Given the description of an element on the screen output the (x, y) to click on. 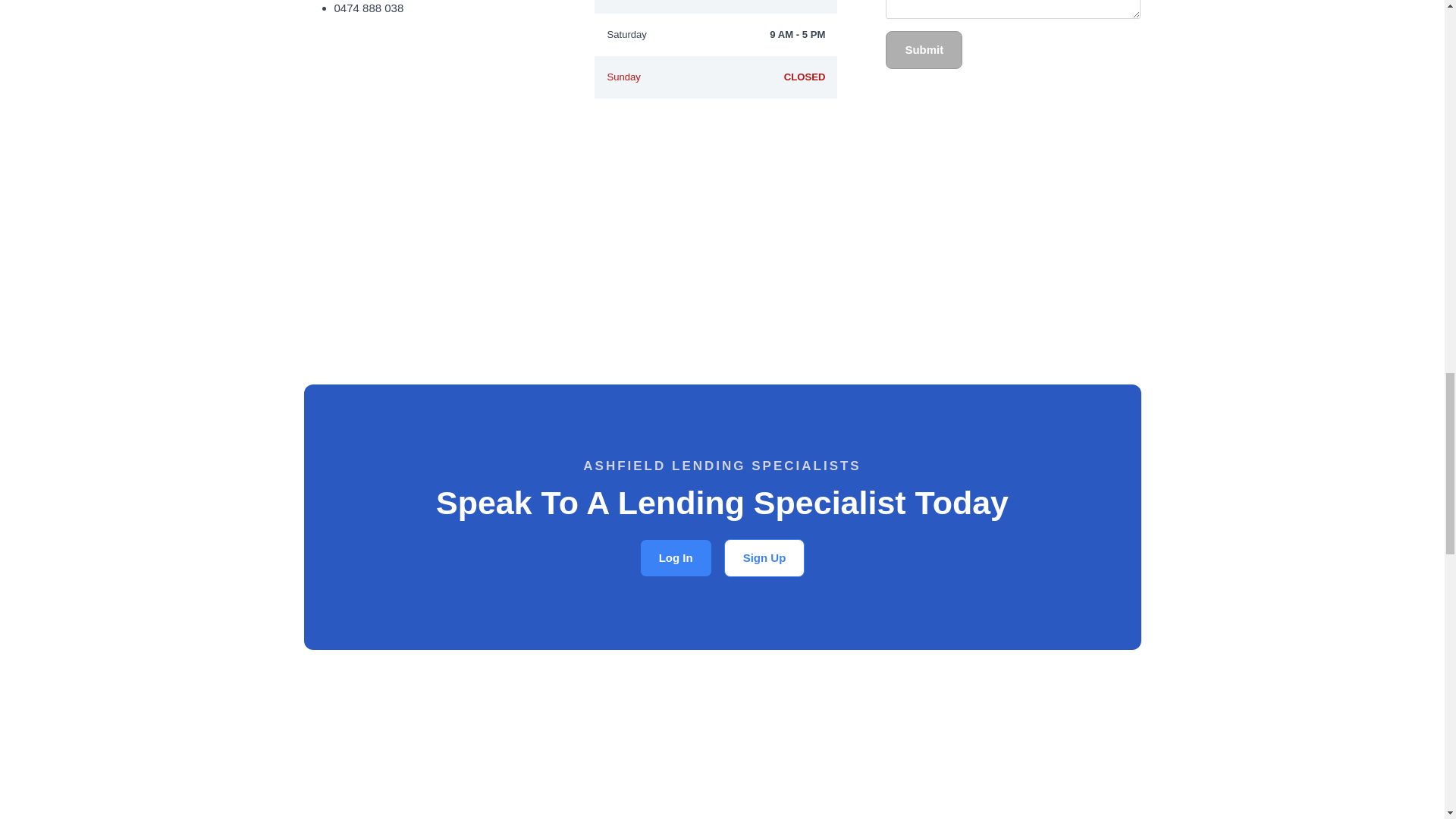
Sign Up (764, 557)
Submit (923, 49)
Log In (675, 557)
